Given the description of an element on the screen output the (x, y) to click on. 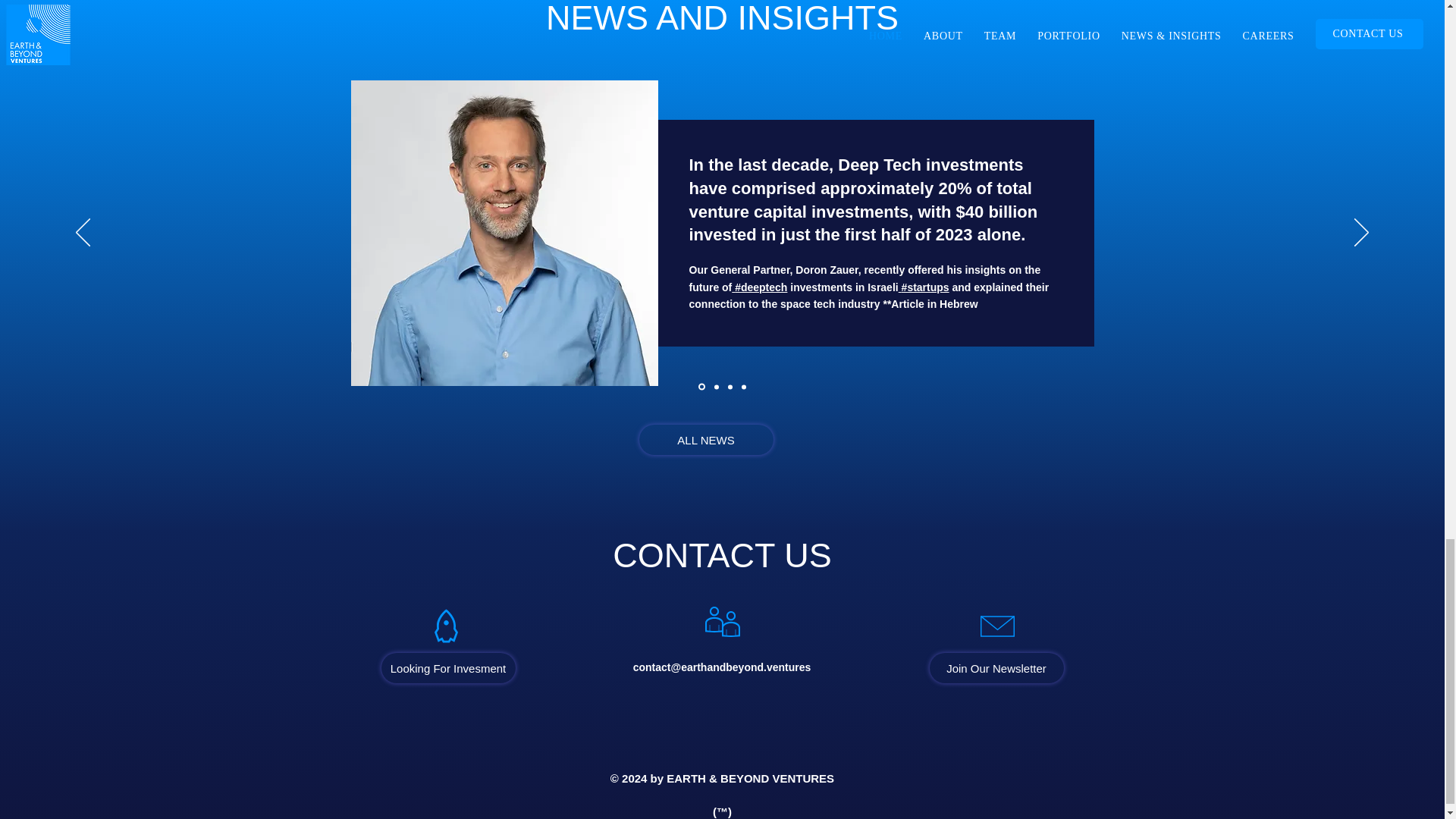
Join Our Newsletter (997, 667)
ALL NEWS (706, 440)
Looking For Invesment (447, 667)
